Given the description of an element on the screen output the (x, y) to click on. 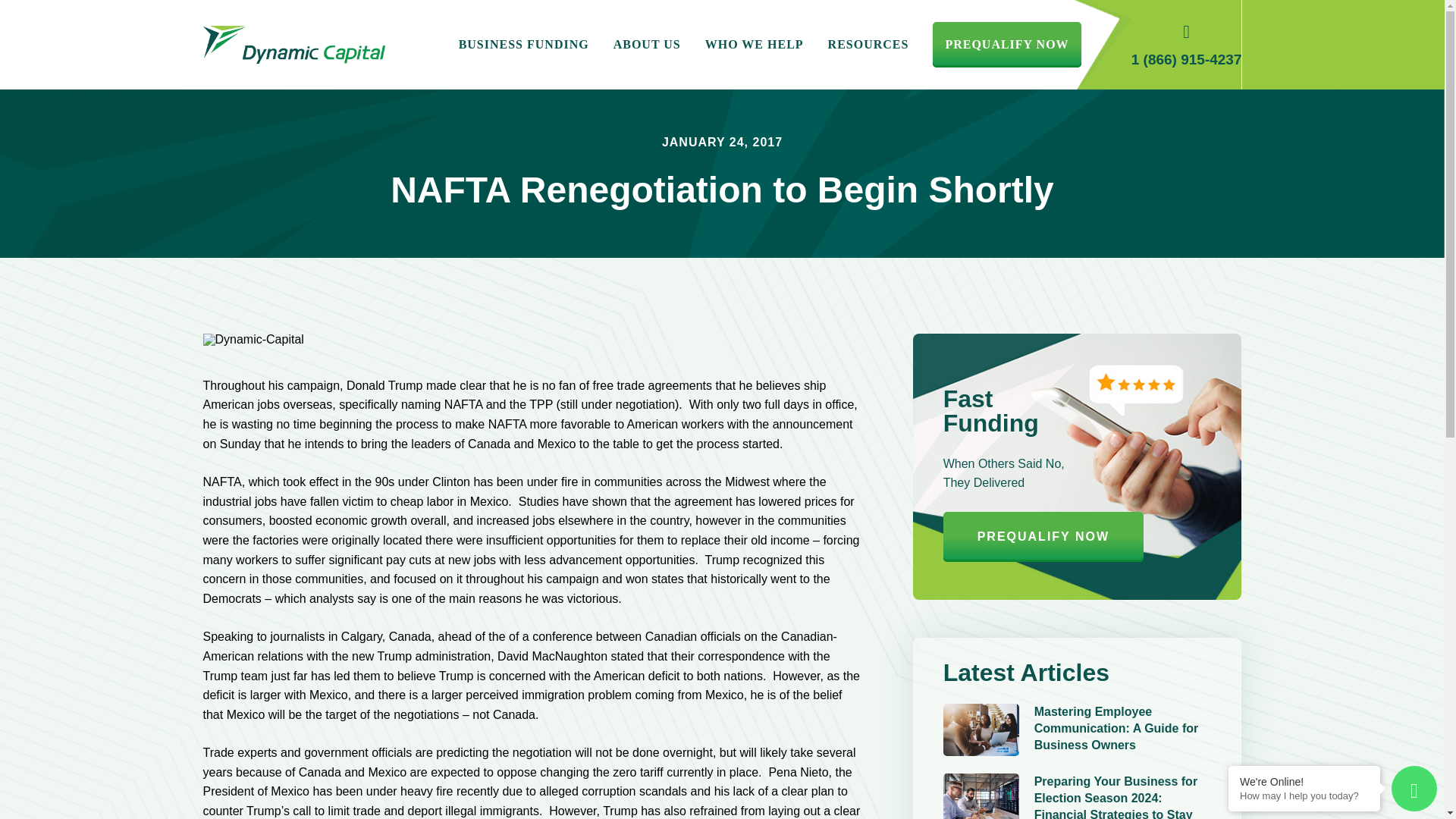
WHO WE HELP (754, 44)
RESOURCES (868, 44)
PREQUALIFY NOW (1006, 44)
BUSINESS FUNDING (523, 44)
How may I help you today? (1304, 795)
Dynamic Capital (253, 339)
Dynamic Capital (294, 44)
We're Online! (1304, 781)
ABOUT US (647, 44)
